Given the description of an element on the screen output the (x, y) to click on. 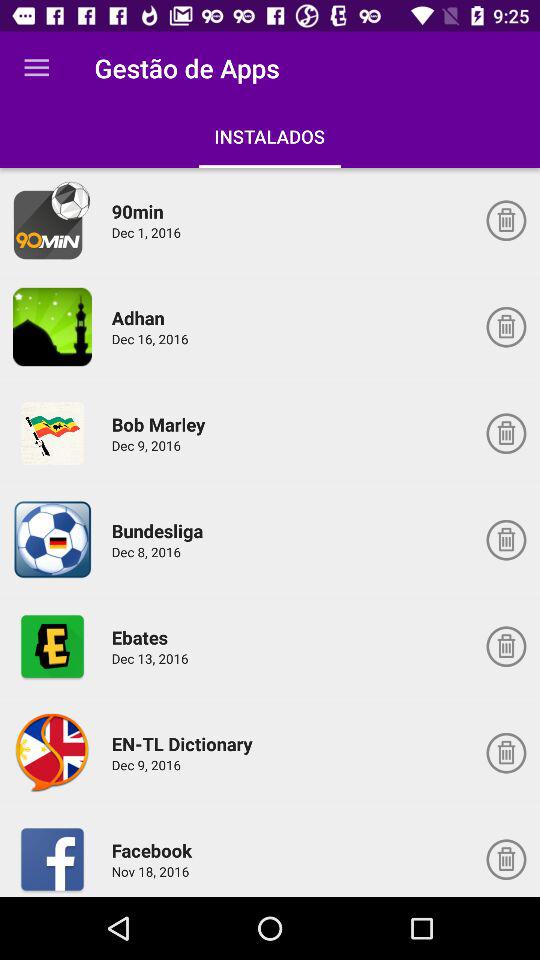
delete ebates (505, 646)
